Given the description of an element on the screen output the (x, y) to click on. 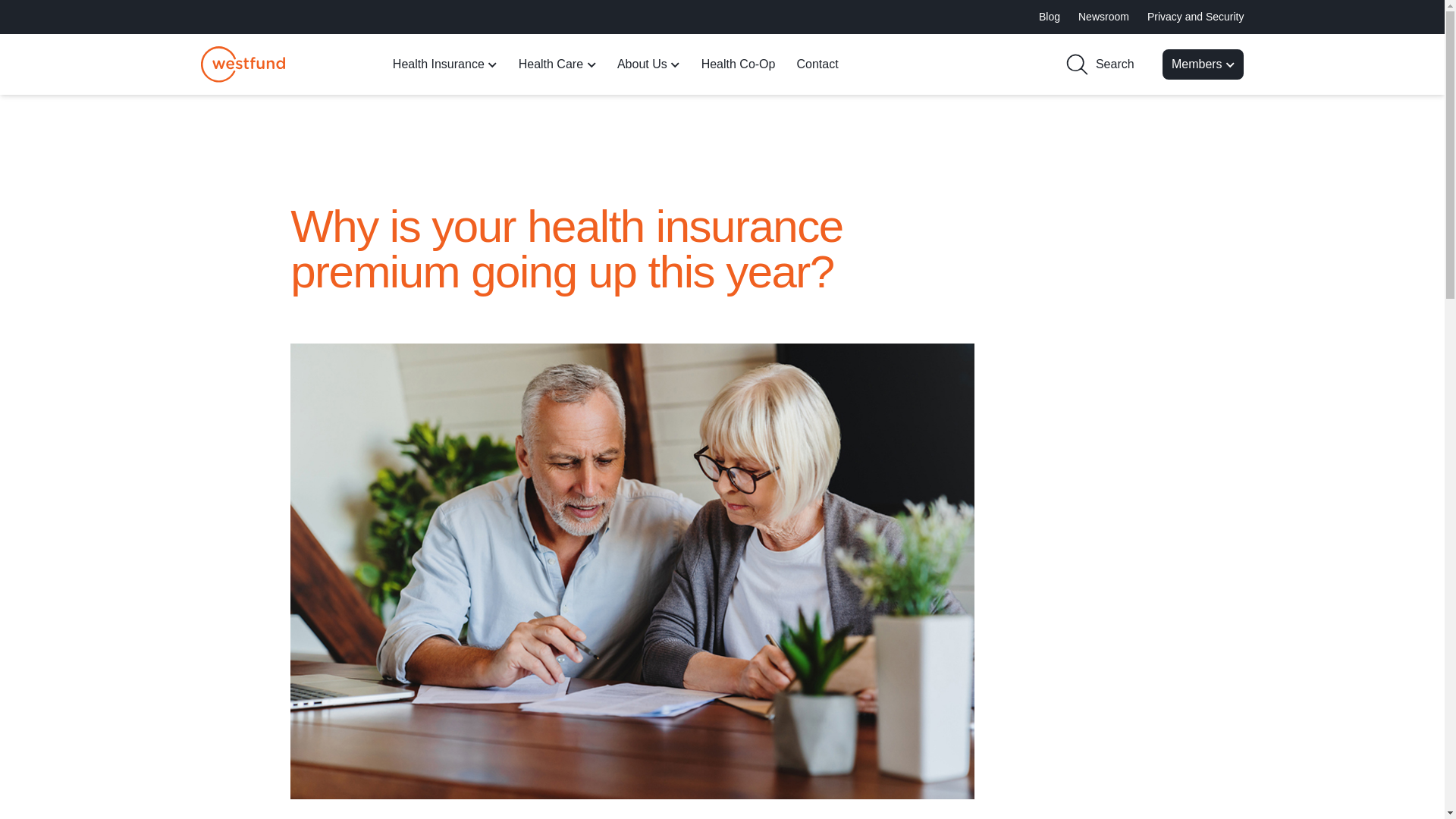
About Us (648, 64)
Privacy and Security (1195, 16)
Health Care (556, 64)
Newsroom (1103, 16)
Health Insurance (445, 64)
Blog (1049, 16)
Blog (1049, 16)
Newsroom (1103, 16)
Privacy and Security (1195, 16)
